Given the description of an element on the screen output the (x, y) to click on. 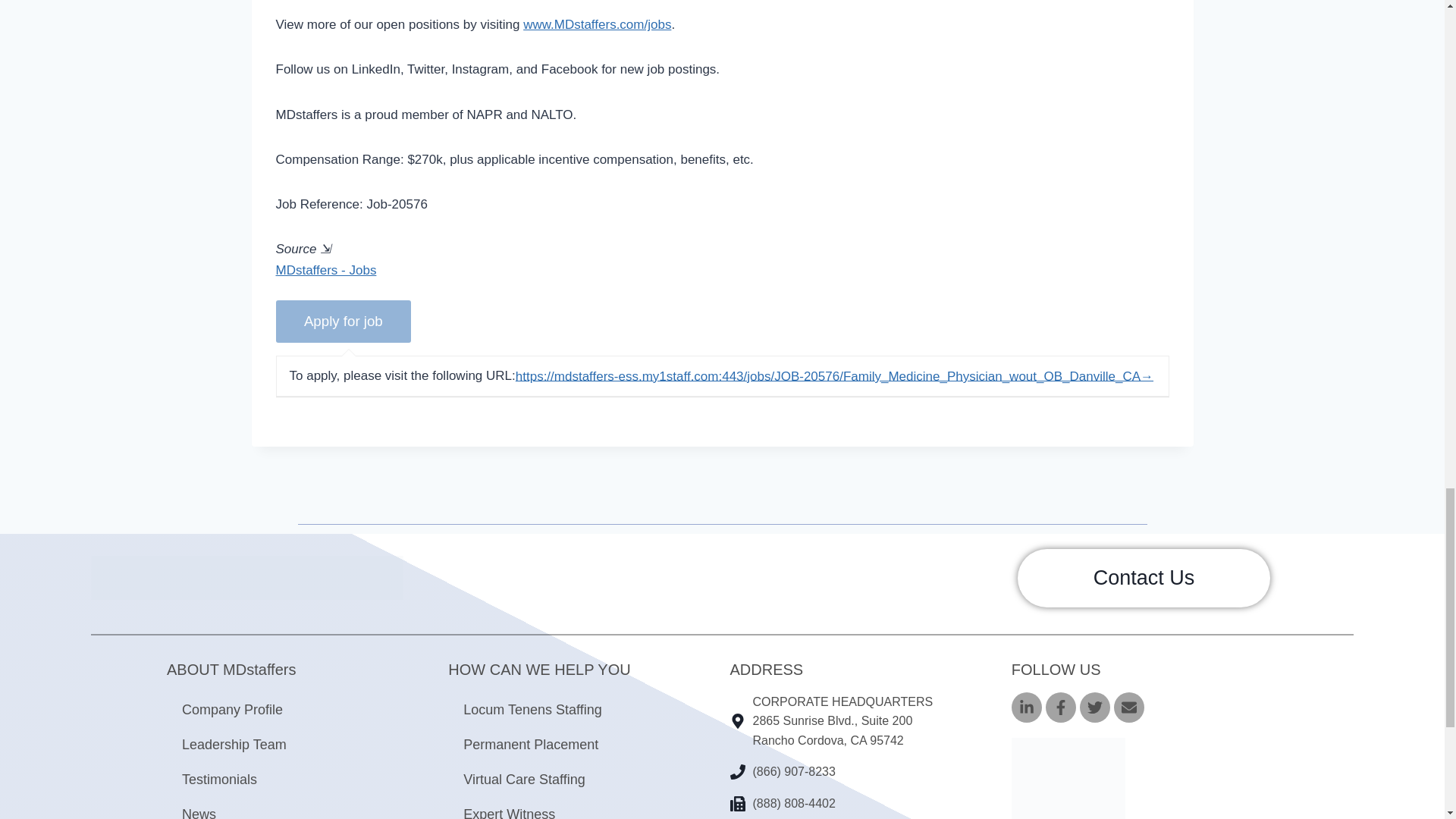
MDstaffers - Jobs (326, 269)
Apply for job (344, 321)
